Given the description of an element on the screen output the (x, y) to click on. 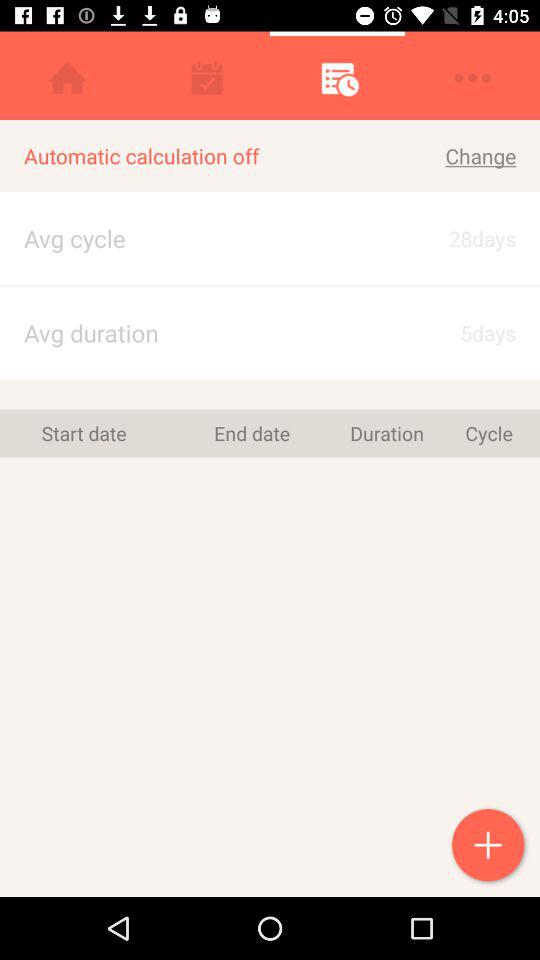
open the item above avg duration item (270, 285)
